Given the description of an element on the screen output the (x, y) to click on. 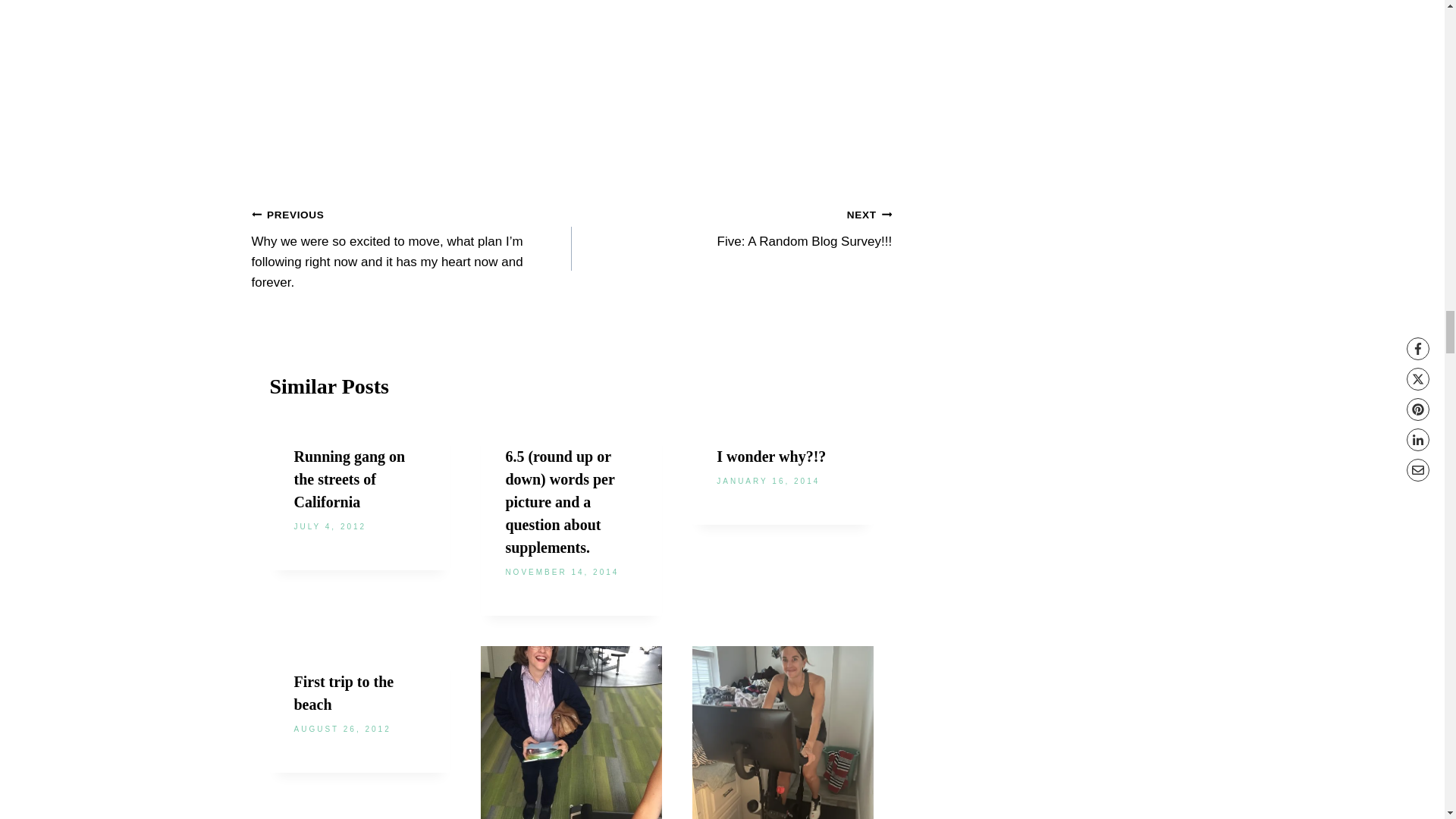
Running gang on the streets of California (350, 478)
I wonder why?!? (770, 456)
